Given the description of an element on the screen output the (x, y) to click on. 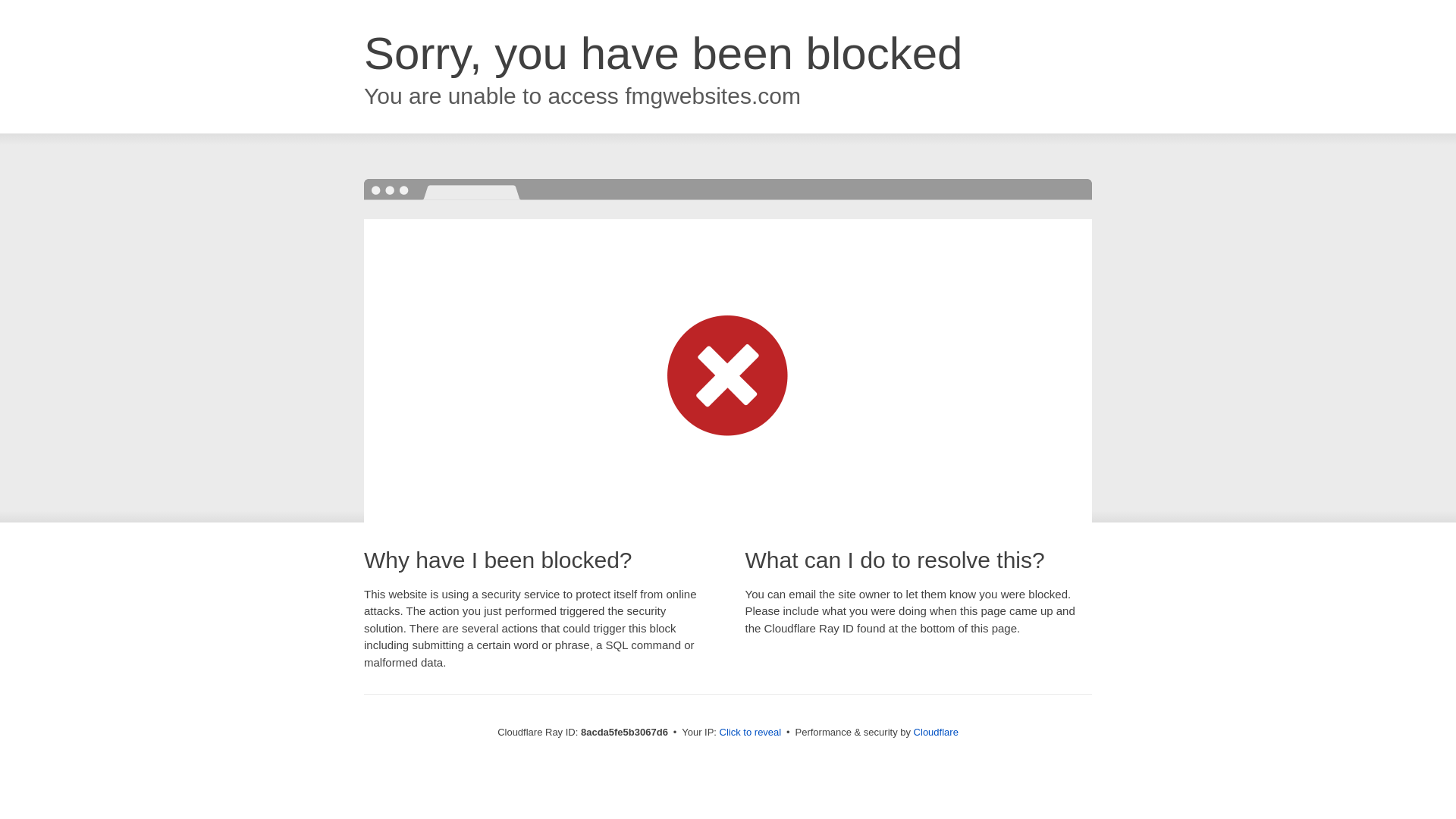
Cloudflare (936, 731)
Click to reveal (750, 732)
